Given the description of an element on the screen output the (x, y) to click on. 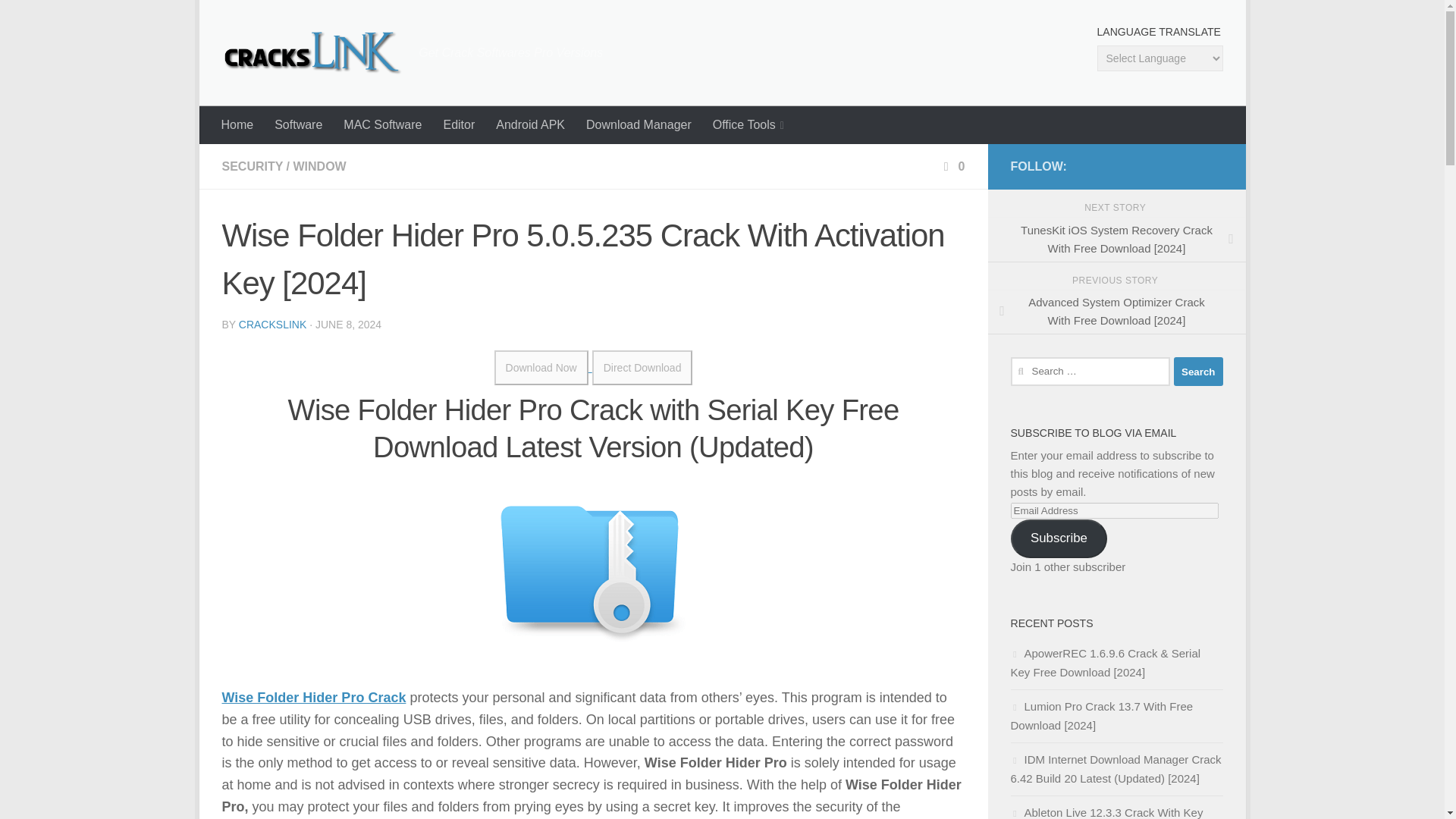
Home (237, 125)
Wise Folder Hider Pro Crack (313, 697)
Office Tools (747, 125)
Search (1198, 371)
CRACKSLINK (271, 324)
Search (1198, 371)
Download Now Direct Download (594, 366)
Software (298, 125)
Posts by CracksLink (271, 324)
SECURITY (251, 165)
Android APK (529, 125)
WINDOW (319, 165)
Download Now (541, 367)
0 (952, 165)
Direct Download (642, 367)
